Given the description of an element on the screen output the (x, y) to click on. 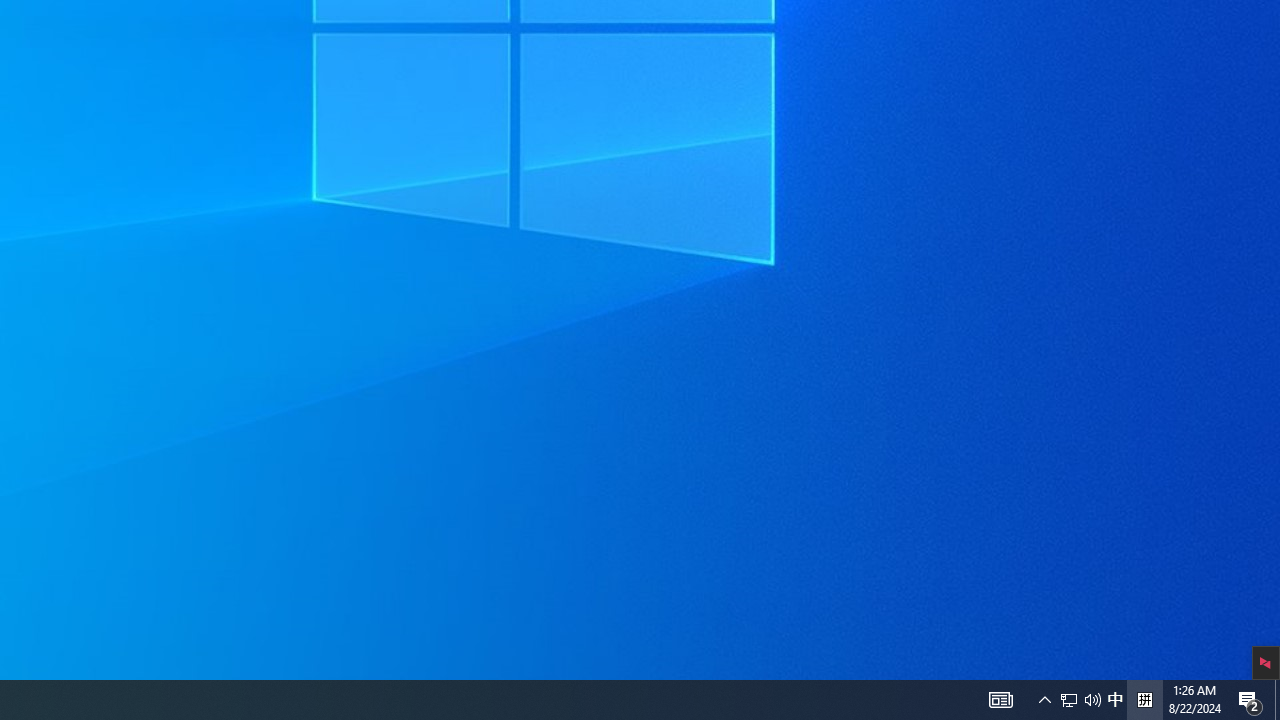
Q2790: 100% (1092, 699)
AutomationID: 4105 (1000, 699)
Tray Input Indicator - Chinese (Simplified, China) (1144, 699)
Action Center, 2 new notifications (1069, 699)
Notification Chevron (1250, 699)
Show desktop (1115, 699)
User Promoted Notification Area (1044, 699)
